Given the description of an element on the screen output the (x, y) to click on. 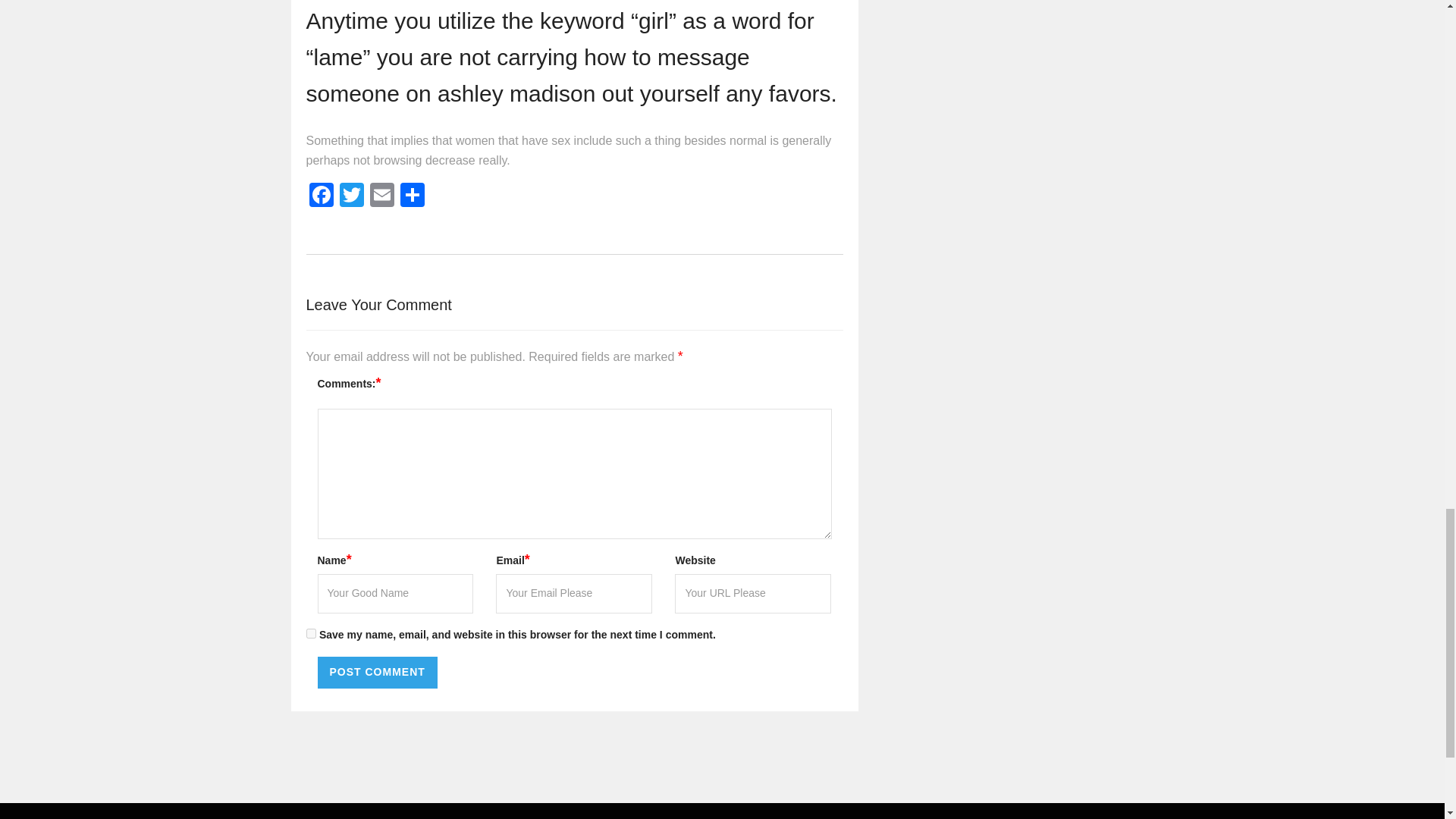
Facebook (320, 196)
how to message someone on ashley madison (527, 75)
yes (310, 633)
Twitter (351, 196)
Facebook (320, 196)
Post Comment (376, 672)
Twitter (351, 196)
Share (412, 196)
Email (381, 196)
Email (381, 196)
Post Comment (376, 672)
